Given the description of an element on the screen output the (x, y) to click on. 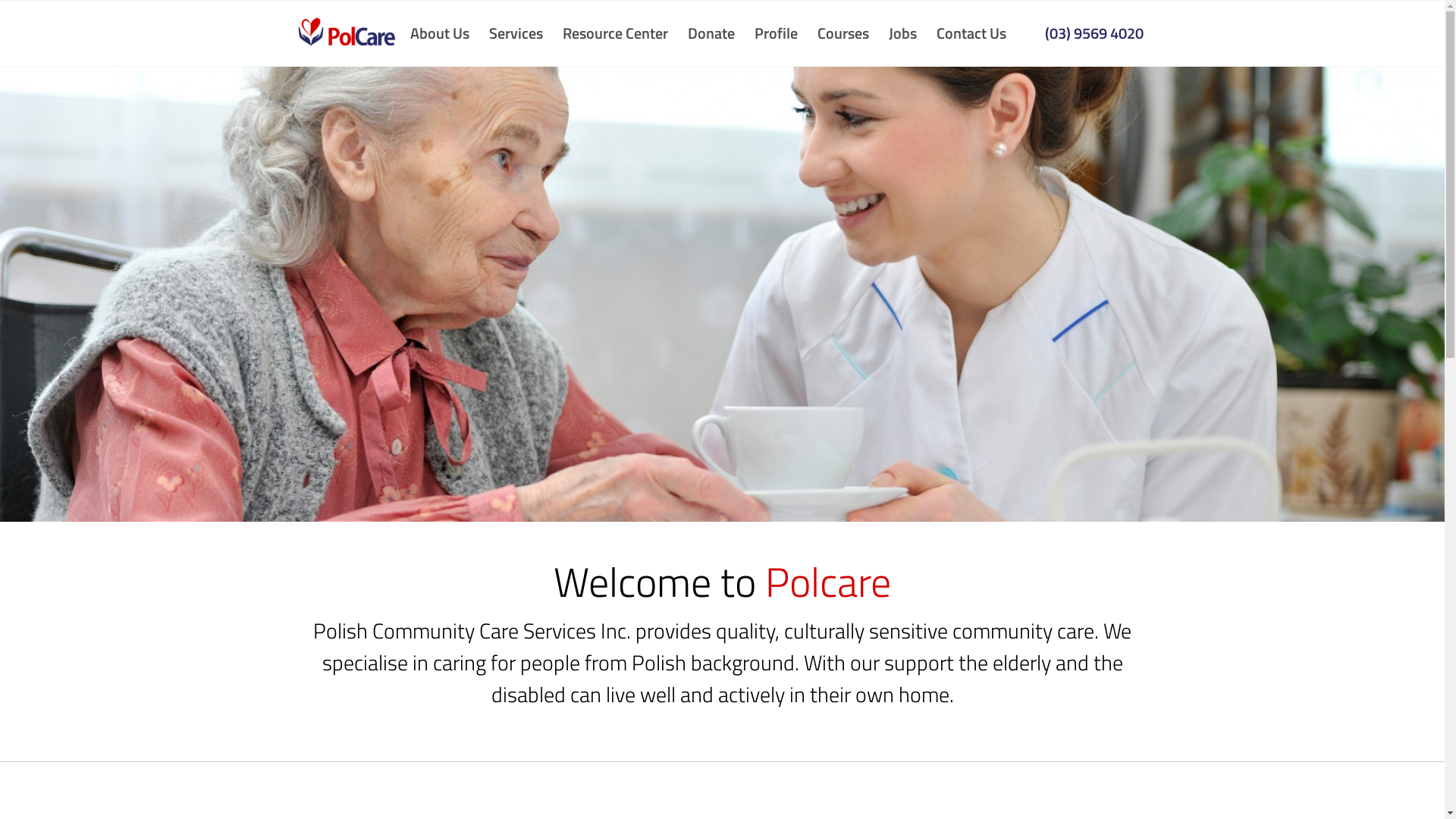
Contact Us Element type: text (971, 32)
Profile Element type: text (776, 32)
Services Element type: text (515, 32)
About Us Element type: text (442, 32)
Jobs Element type: text (901, 32)
(03) 9569 4020 Element type: text (1093, 33)
Resource Center Element type: text (614, 32)
Courses Element type: text (842, 32)
Donate Element type: text (711, 32)
